Given the description of an element on the screen output the (x, y) to click on. 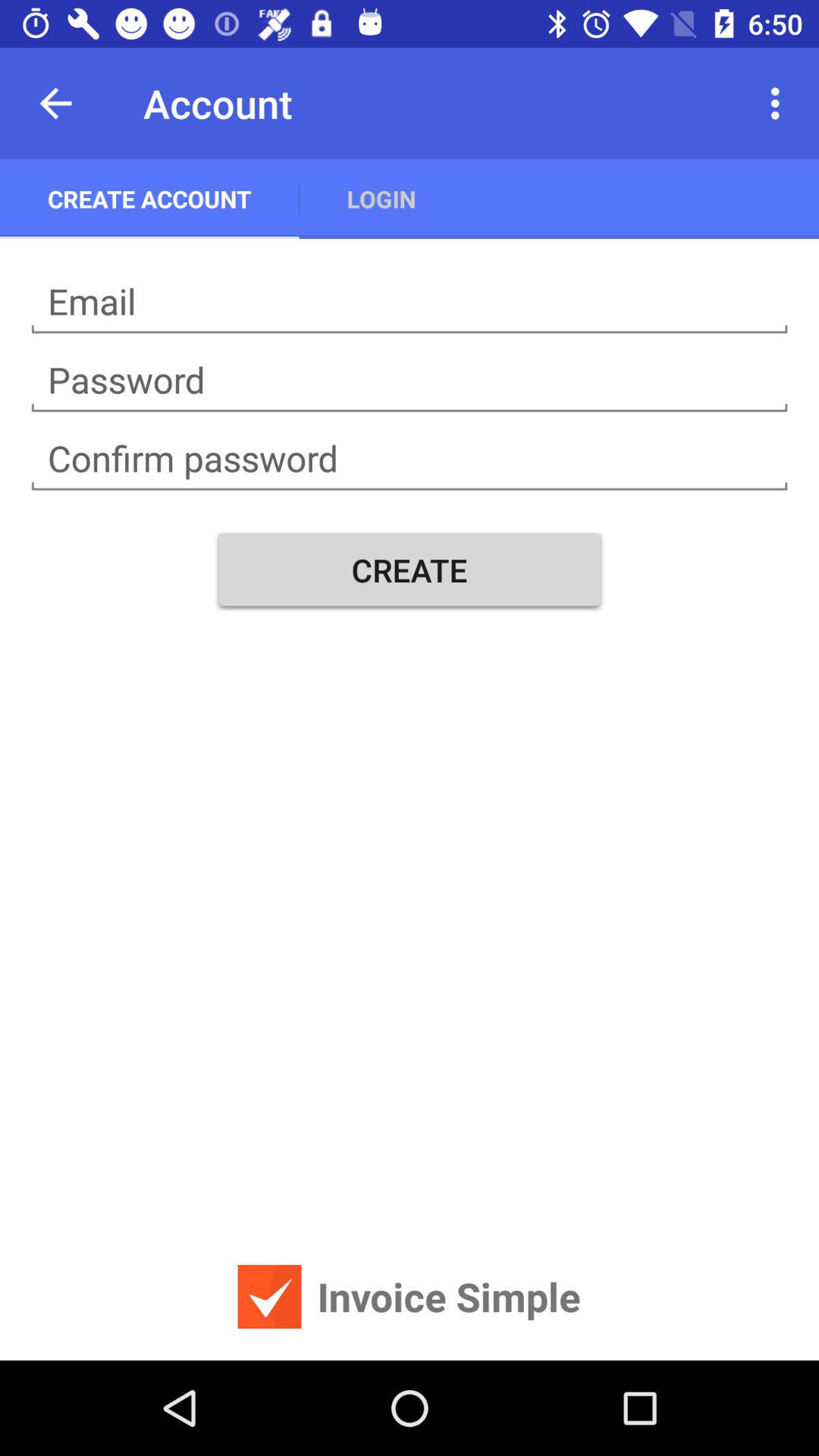
email id (409, 301)
